Given the description of an element on the screen output the (x, y) to click on. 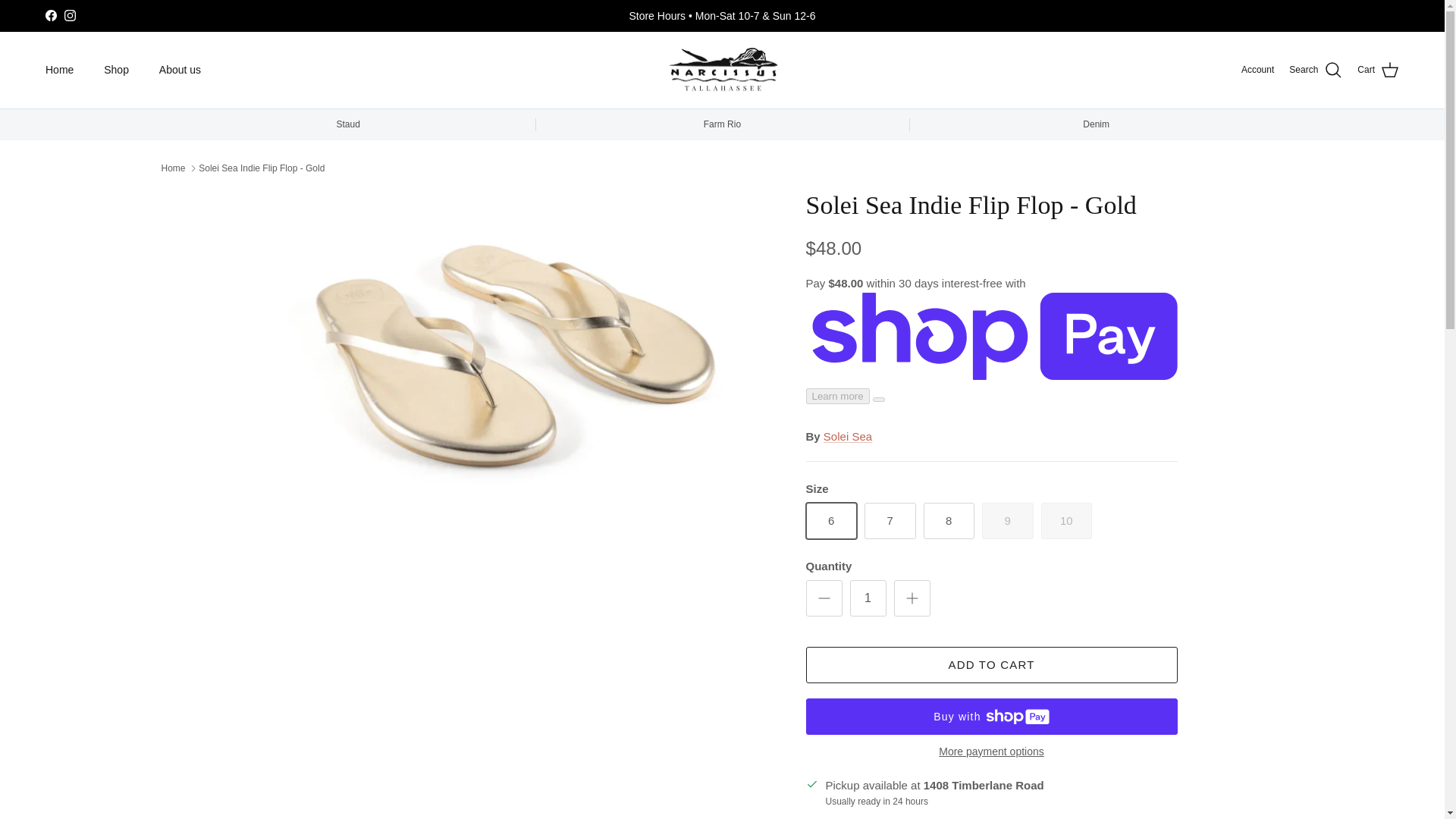
About us (179, 70)
Home (59, 70)
Narcissus Tallahassee (721, 70)
1 (866, 597)
Facebook (50, 15)
Shop (116, 70)
Sold out (1007, 520)
Instagram (69, 15)
Search (1315, 70)
Narcissus Tallahassee on Instagram (69, 15)
